Given the description of an element on the screen output the (x, y) to click on. 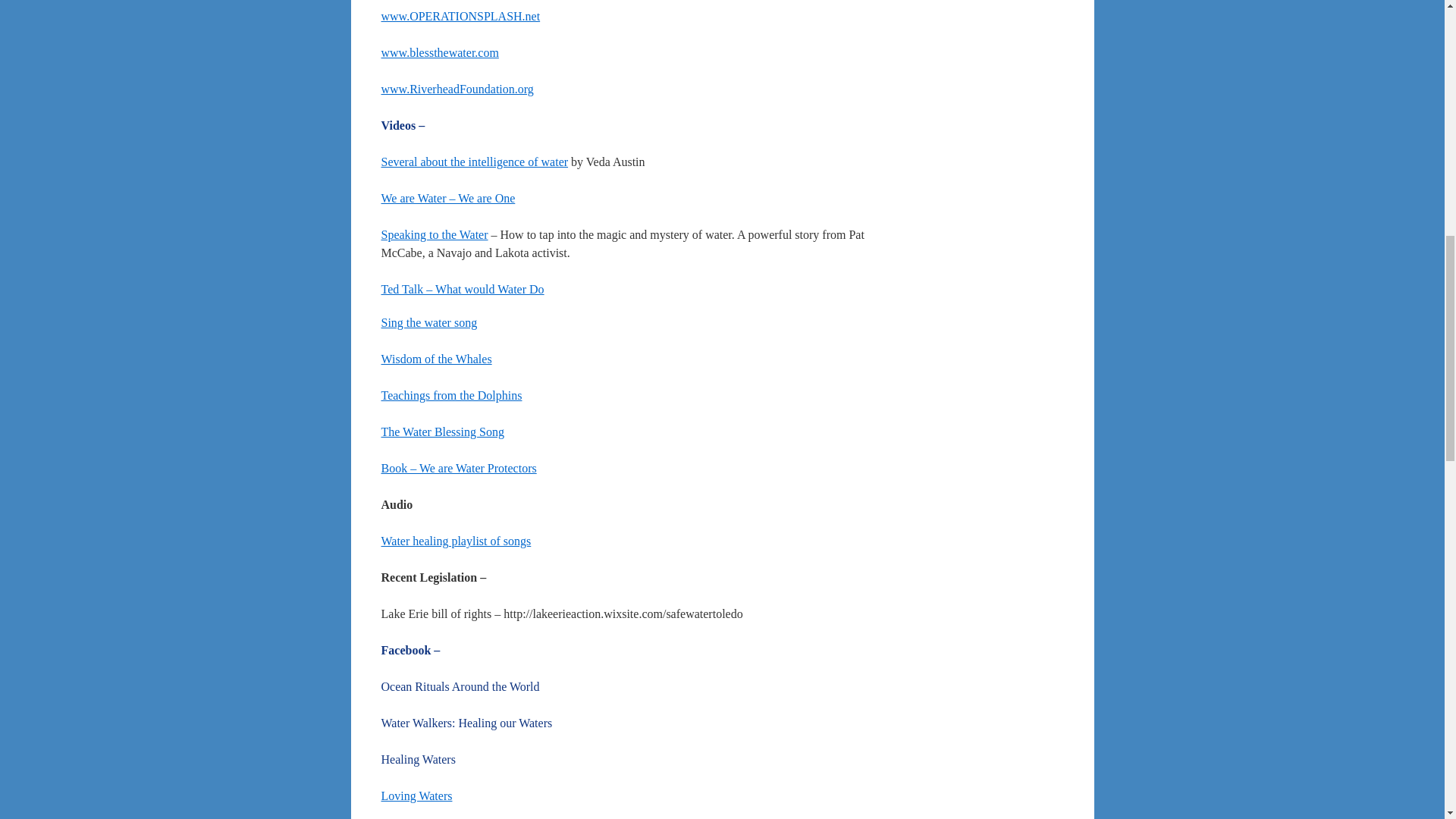
Teachings from the Dolphins (450, 395)
Speaking to the Water (433, 234)
Several about the intelligence of water (473, 161)
www.blessthewater.com (438, 51)
Water healing playlist of songs (455, 540)
www.OPERATIONSPLASH.net (460, 15)
Loving Waters (415, 795)
The Water Blessing Song (441, 431)
www.RiverheadFoundation.org (456, 88)
Sing the water song (428, 322)
Wisdom of the Whales (436, 358)
